Given the description of an element on the screen output the (x, y) to click on. 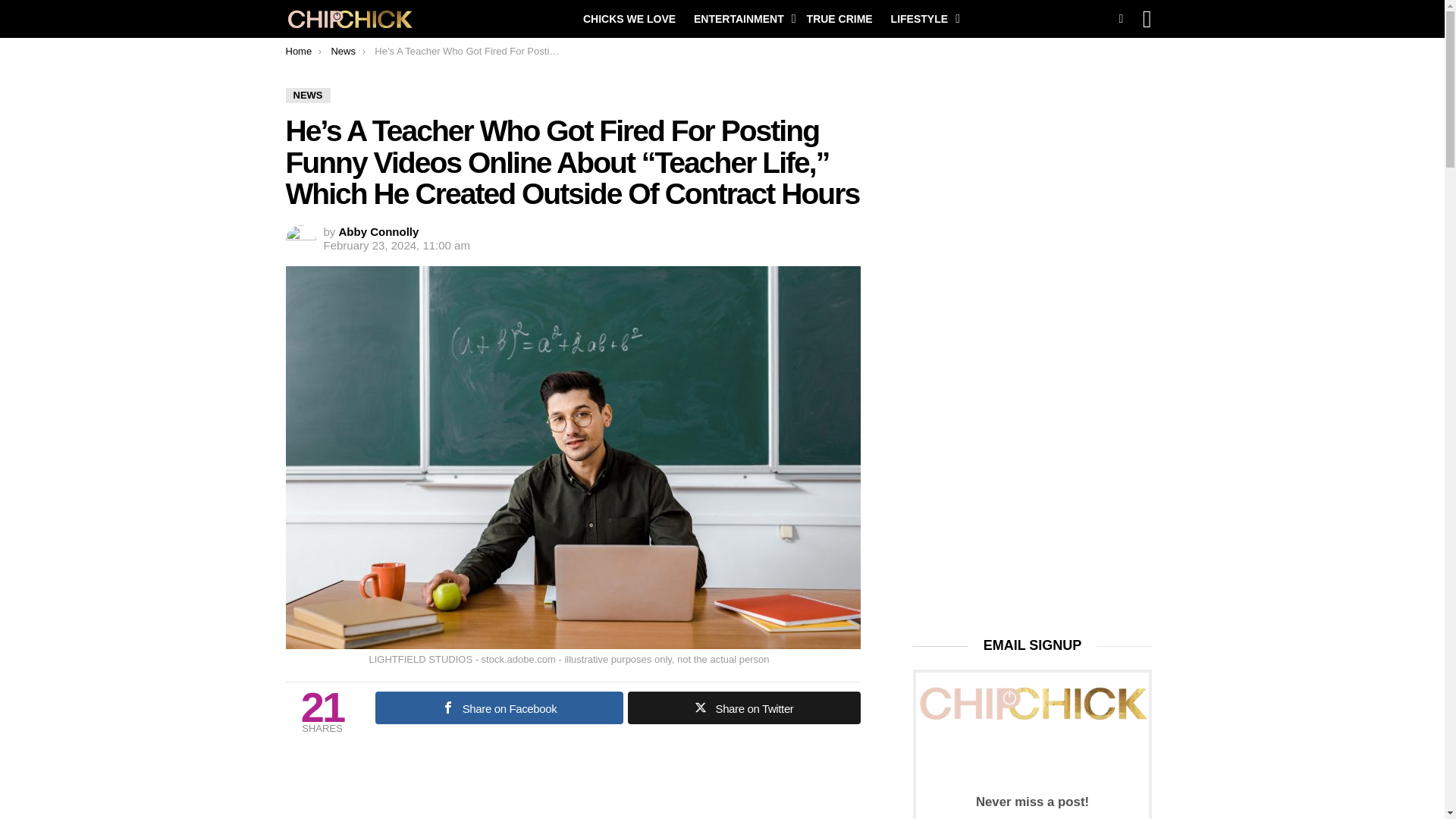
Share on Facebook (498, 707)
Abby Connolly (379, 231)
Share on Twitter (743, 707)
Posts by Abby Connolly (379, 231)
ENTERTAINMENT (740, 18)
CHICKS WE LOVE (628, 18)
NEWS (307, 95)
News (342, 50)
Home (298, 50)
LIFESTYLE (921, 18)
TRUE CRIME (839, 18)
